Given the description of an element on the screen output the (x, y) to click on. 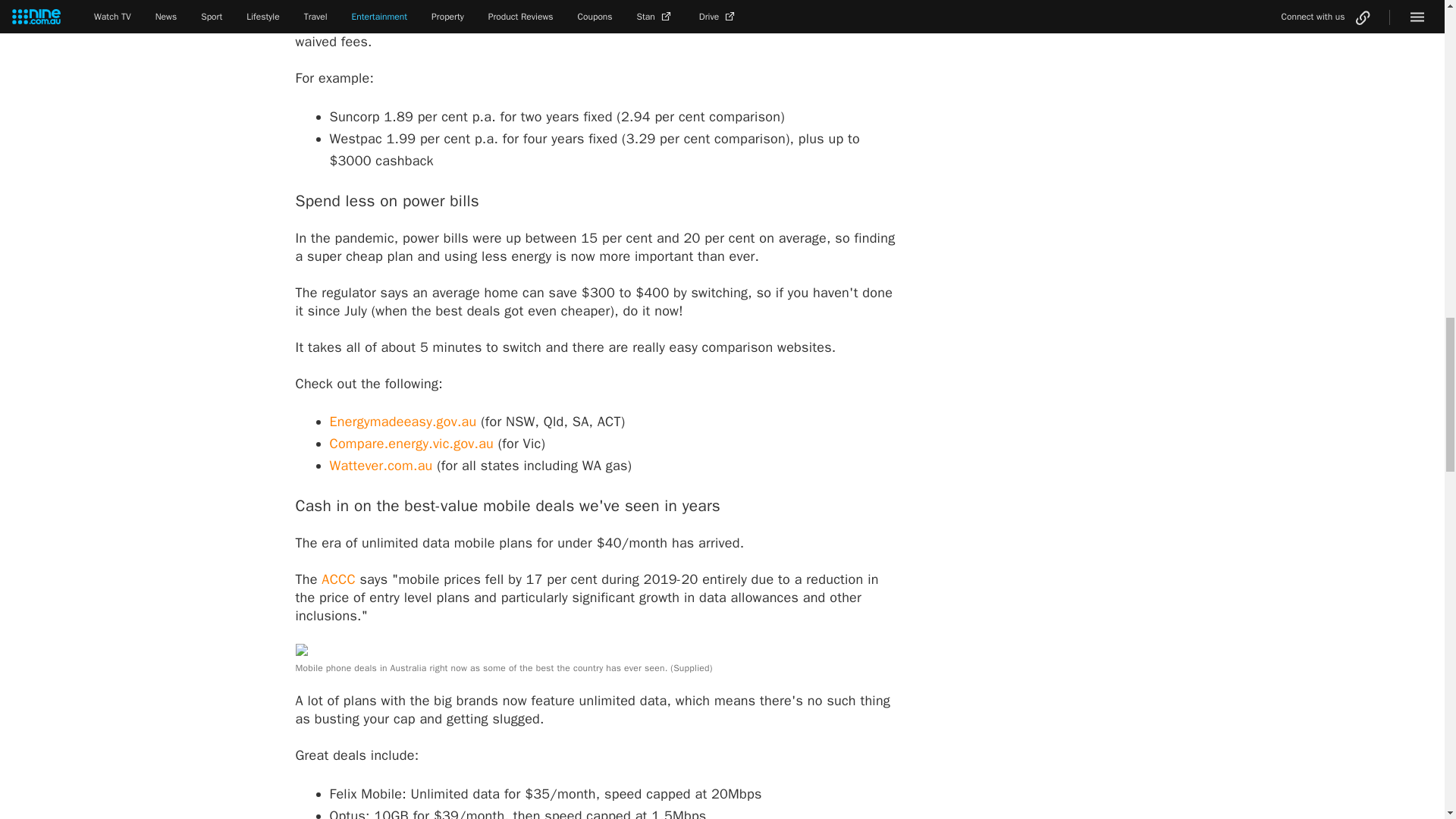
Compare.energy.vic.gov.au (411, 443)
ACCC (338, 579)
Wattever.com.au (380, 465)
Energymadeeasy.gov.au (402, 421)
